Given the description of an element on the screen output the (x, y) to click on. 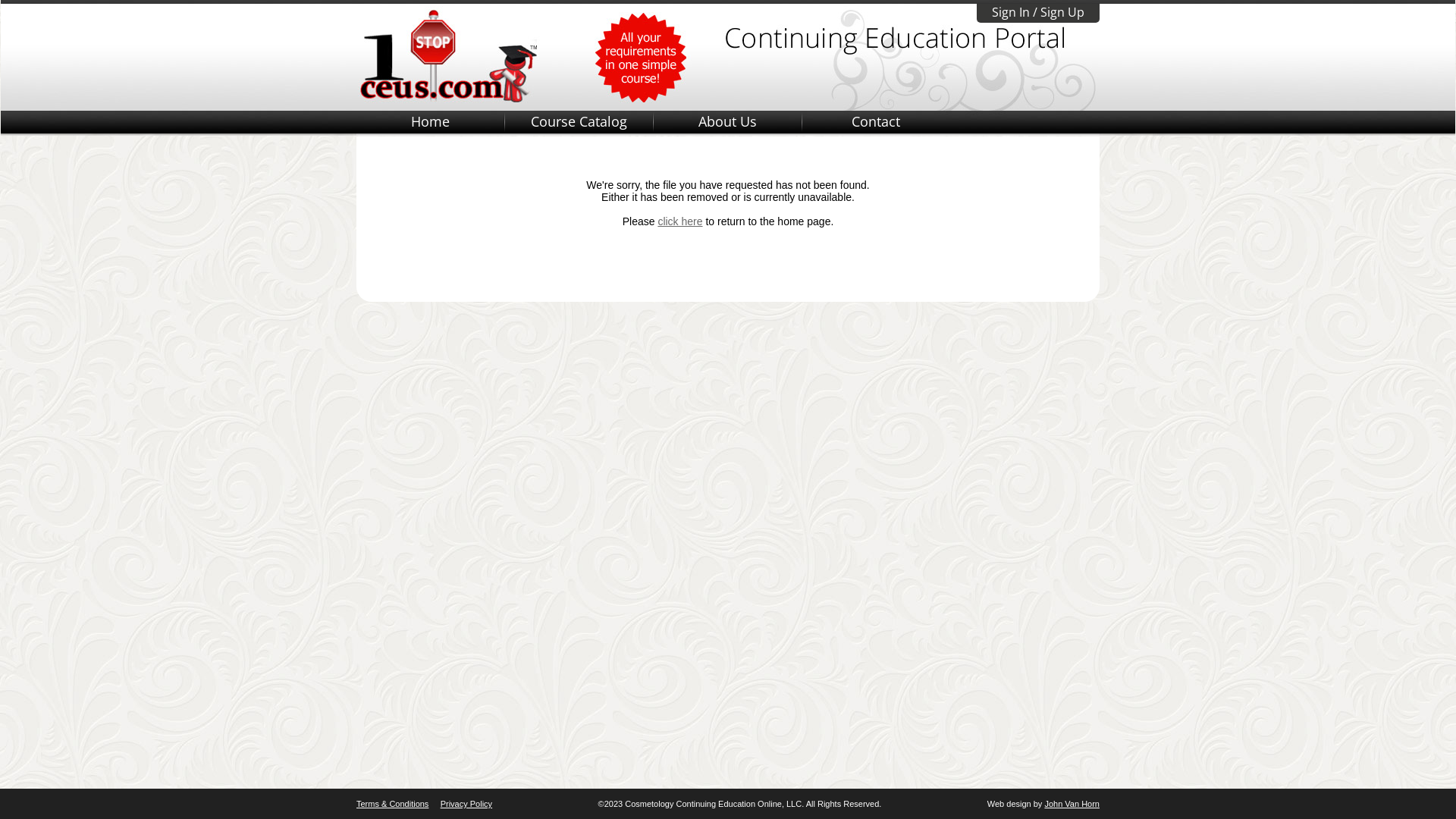
Course Catalog Element type: text (578, 121)
John Van Horn Element type: text (1071, 803)
Home Element type: text (429, 121)
Terms & Conditions Element type: text (392, 803)
Contact Element type: text (875, 121)
click here Element type: text (679, 221)
Sign In / Sign Up Element type: text (1037, 12)
About Us Element type: text (726, 121)
Privacy Policy Element type: text (466, 803)
